Given the description of an element on the screen output the (x, y) to click on. 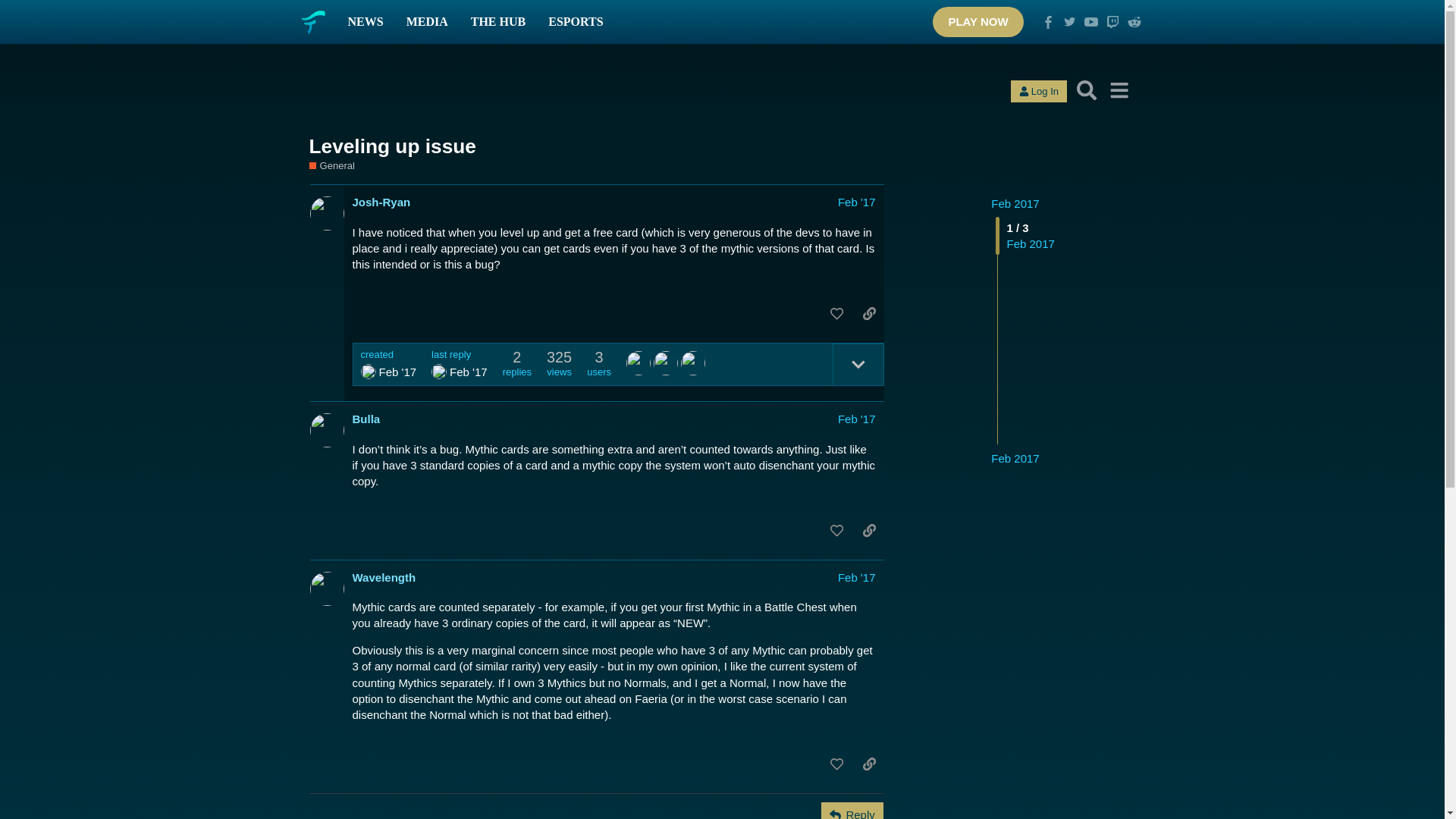
PLAY NOW (978, 21)
Post date (857, 201)
menu (1119, 90)
Feb 4, 2017 9:54 am (468, 371)
NEWS (365, 22)
Josh-Ryan (368, 371)
Wavelength (438, 371)
ESPORTS (575, 22)
Josh-Ryan (381, 201)
